Given the description of an element on the screen output the (x, y) to click on. 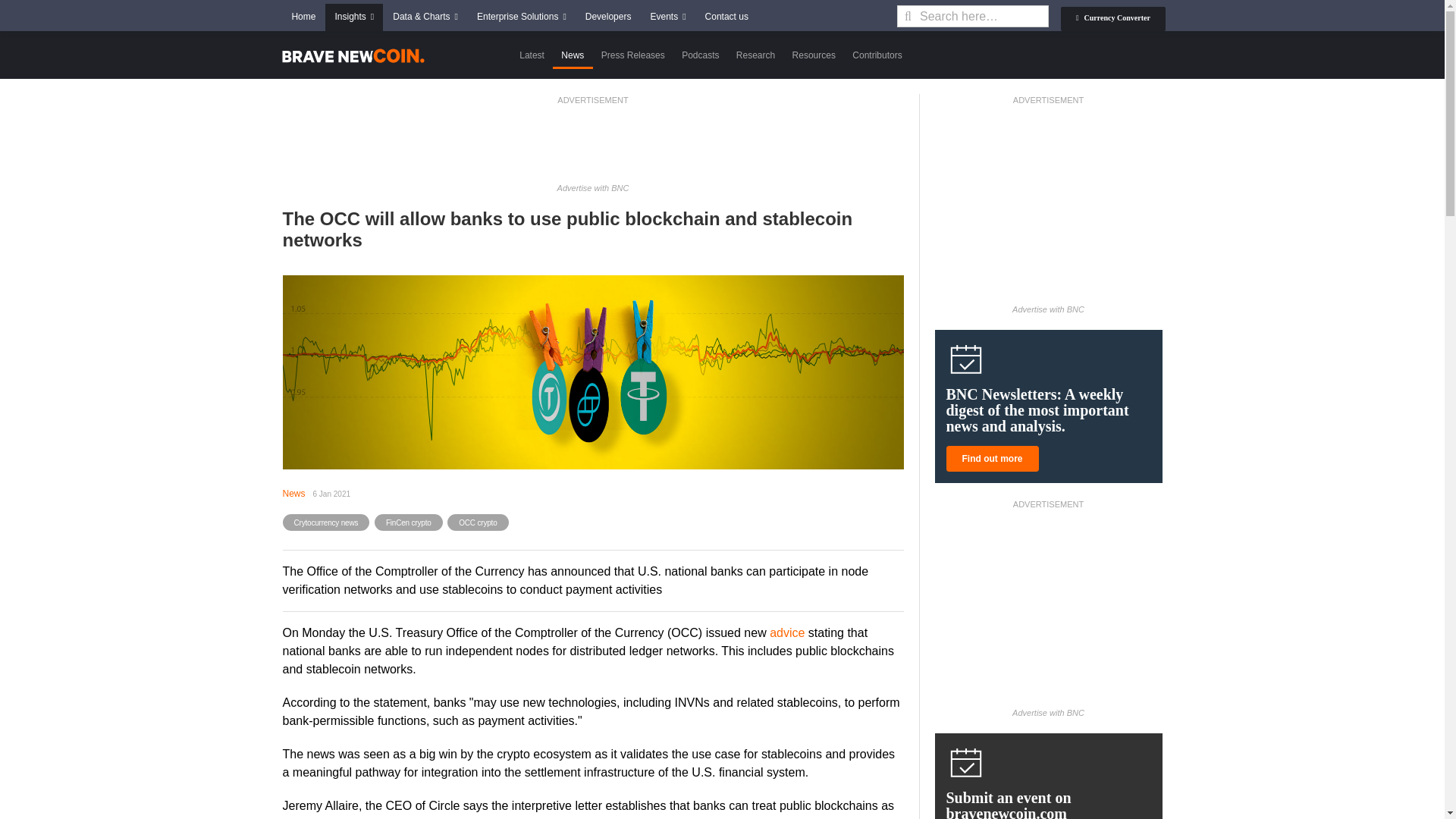
Press Releases (632, 55)
Insights (353, 17)
News (572, 55)
Research (756, 55)
Developers (608, 17)
Events (667, 17)
Currency Converter (1113, 18)
Contact us (726, 17)
Enterprise Solutions (521, 17)
Newsletters Find out More (992, 458)
Home (303, 17)
Podcasts (700, 55)
Posts by News (293, 493)
Latest (532, 55)
Currency Converter (1113, 18)
